Given the description of an element on the screen output the (x, y) to click on. 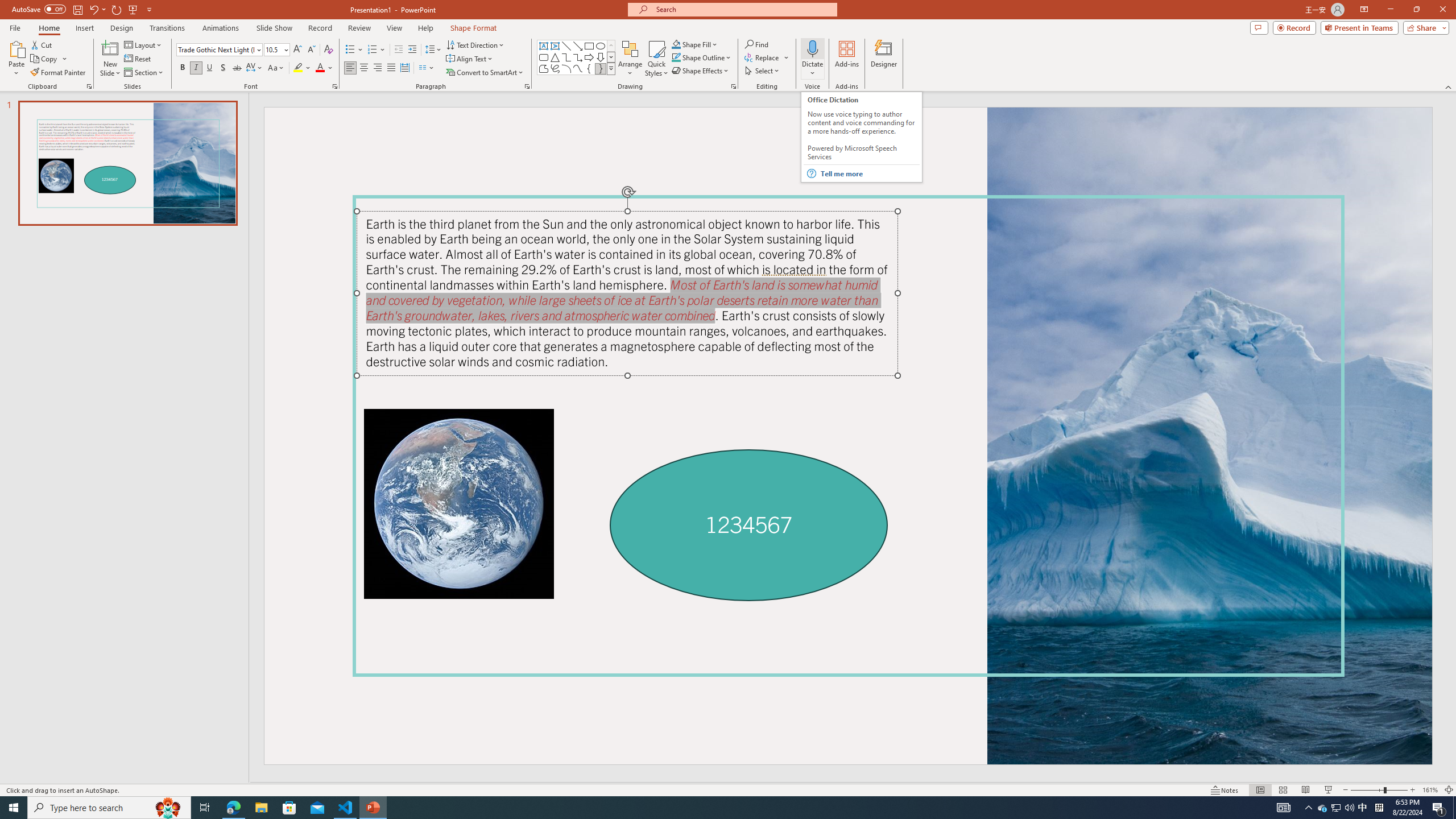
Shape Fill Aqua, Accent 2 (675, 44)
